Given the description of an element on the screen output the (x, y) to click on. 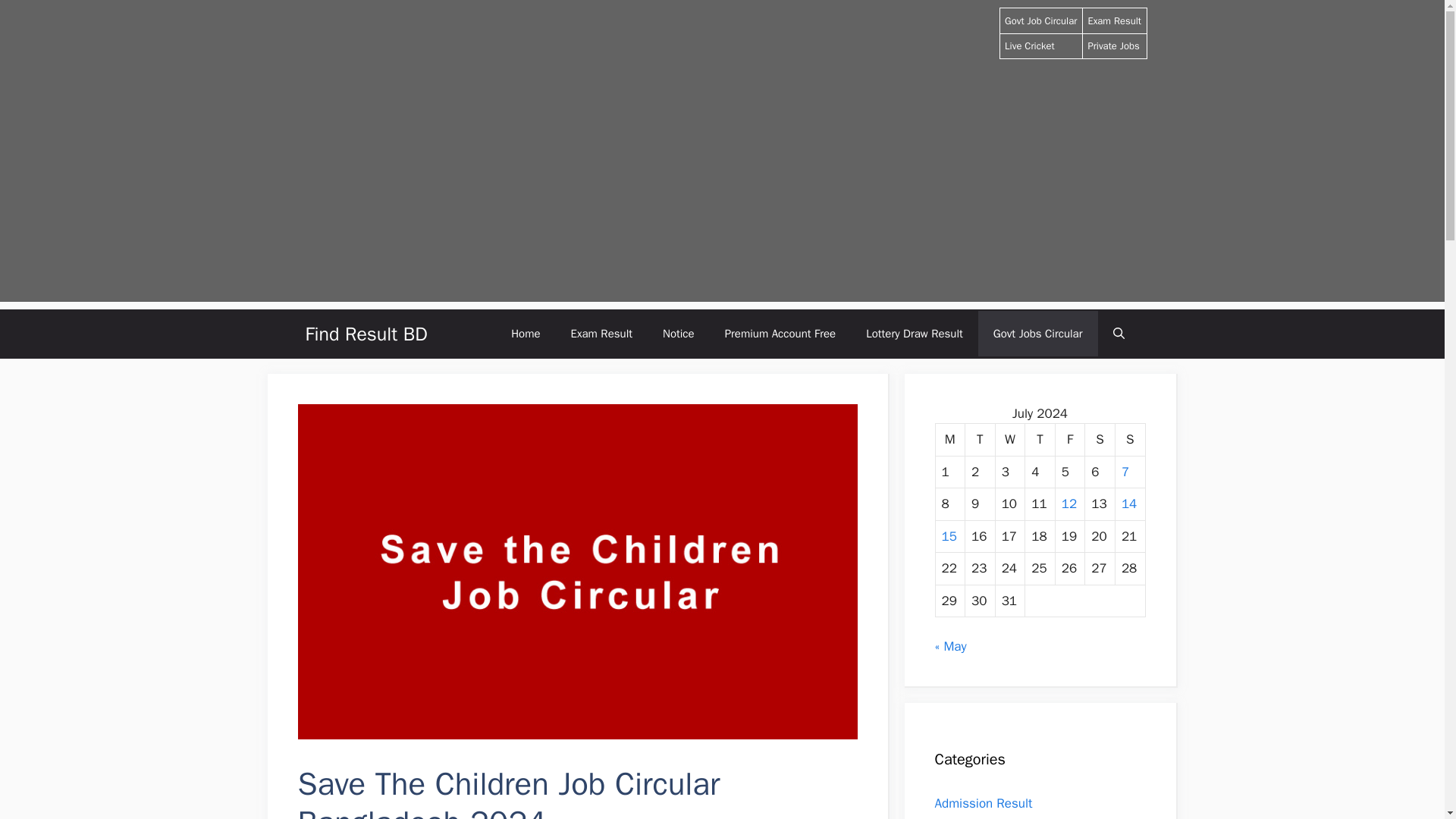
Admission Result (983, 803)
Saturday (1099, 440)
14 (1129, 503)
Thursday (1040, 440)
12 (1069, 503)
Premium Account Free (780, 333)
Tuesday (980, 440)
Monday (951, 440)
Sunday (1130, 440)
Govt Jobs Circular (1037, 333)
Notice (678, 333)
Home (525, 333)
Friday (1070, 440)
Exam Result (601, 333)
